Given the description of an element on the screen output the (x, y) to click on. 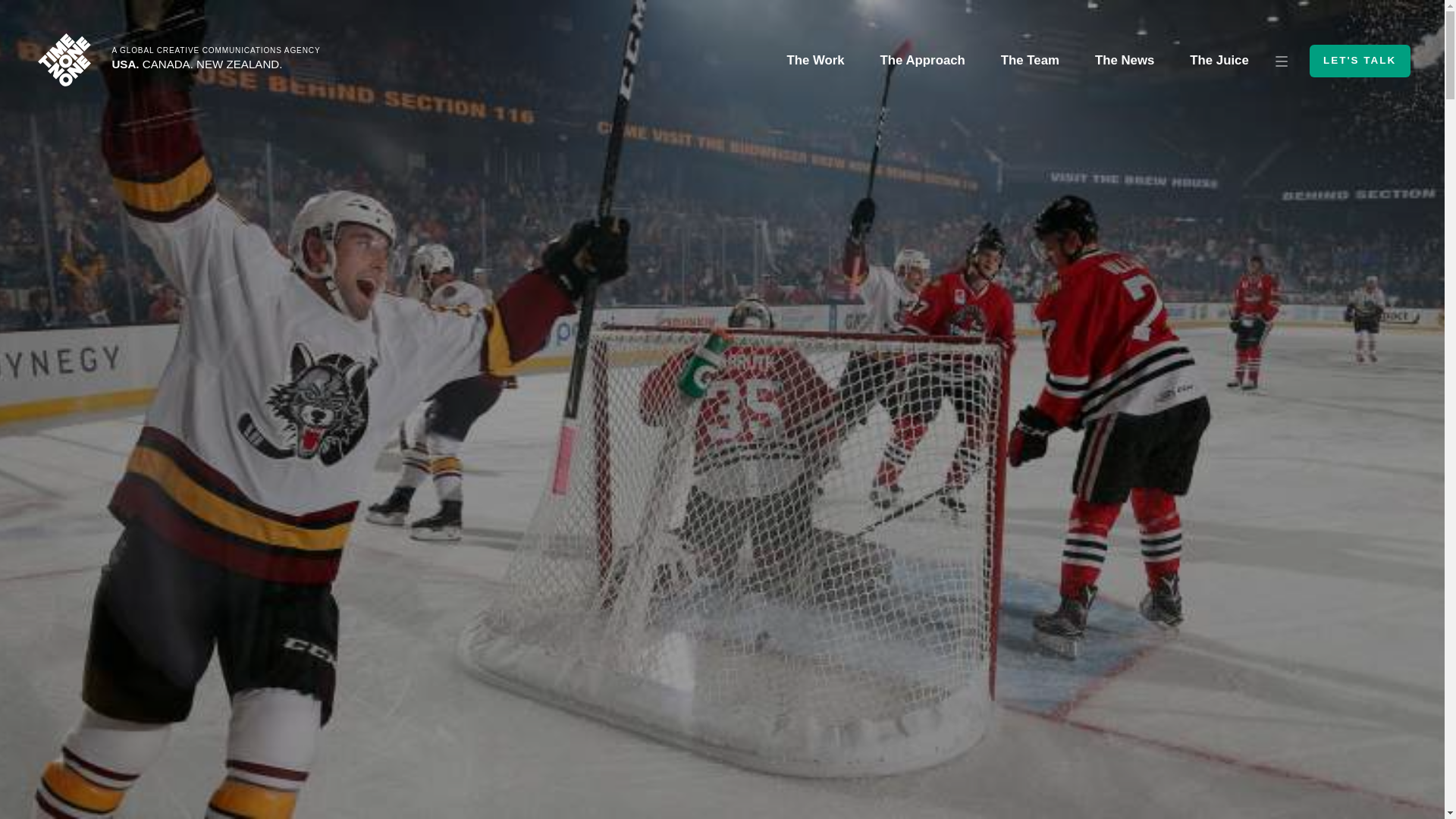
The Juice (1219, 60)
The Team (1029, 60)
LET'S TALK (1359, 60)
Let's Talk (1359, 60)
The Juice (1219, 60)
More (1281, 60)
The Team (1029, 60)
The Approach (921, 60)
The News (1124, 60)
The Work (814, 60)
The Work (814, 60)
The News (1124, 60)
The Approach (921, 60)
